Given the description of an element on the screen output the (x, y) to click on. 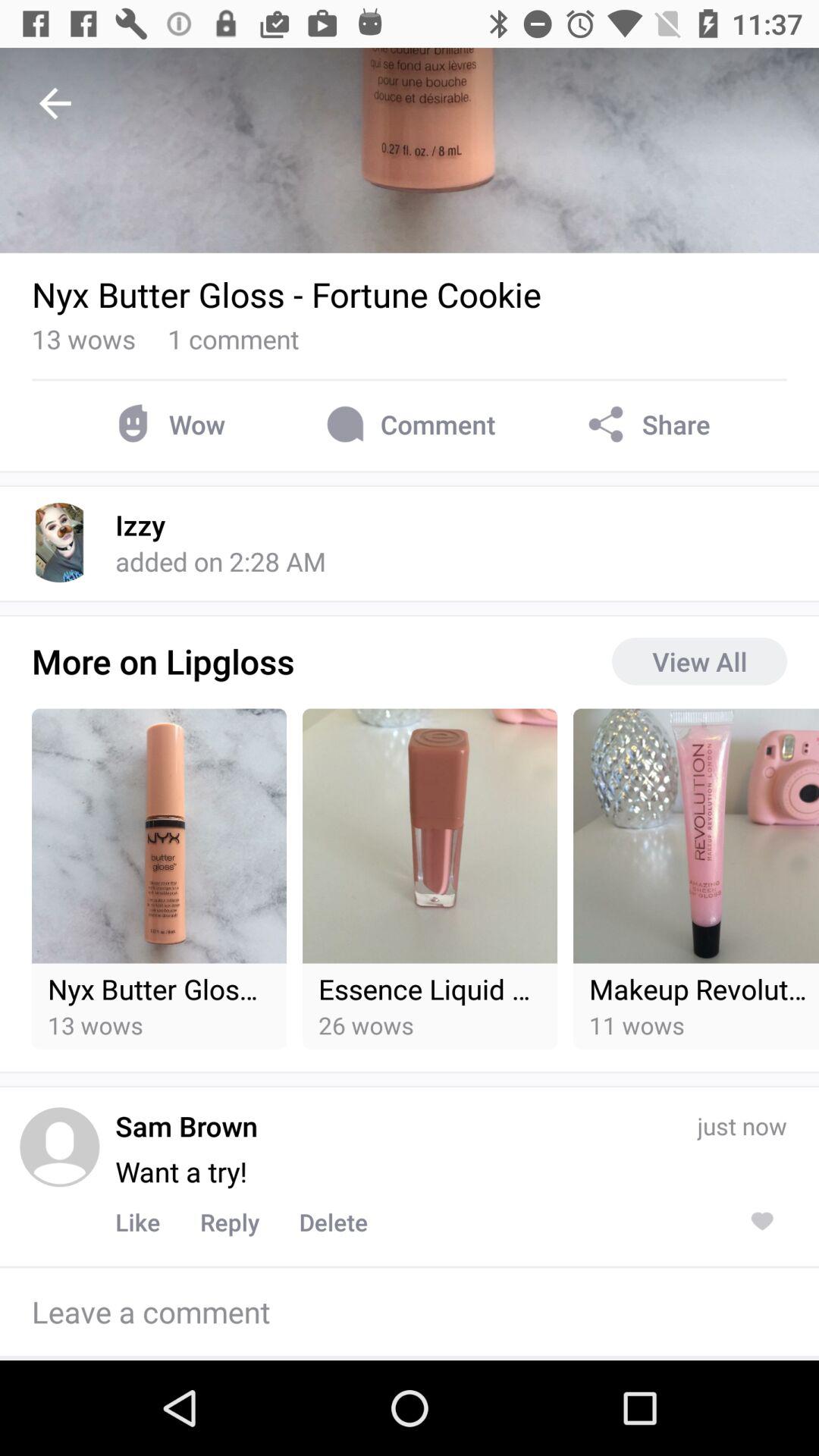
enter comment (409, 1311)
